Given the description of an element on the screen output the (x, y) to click on. 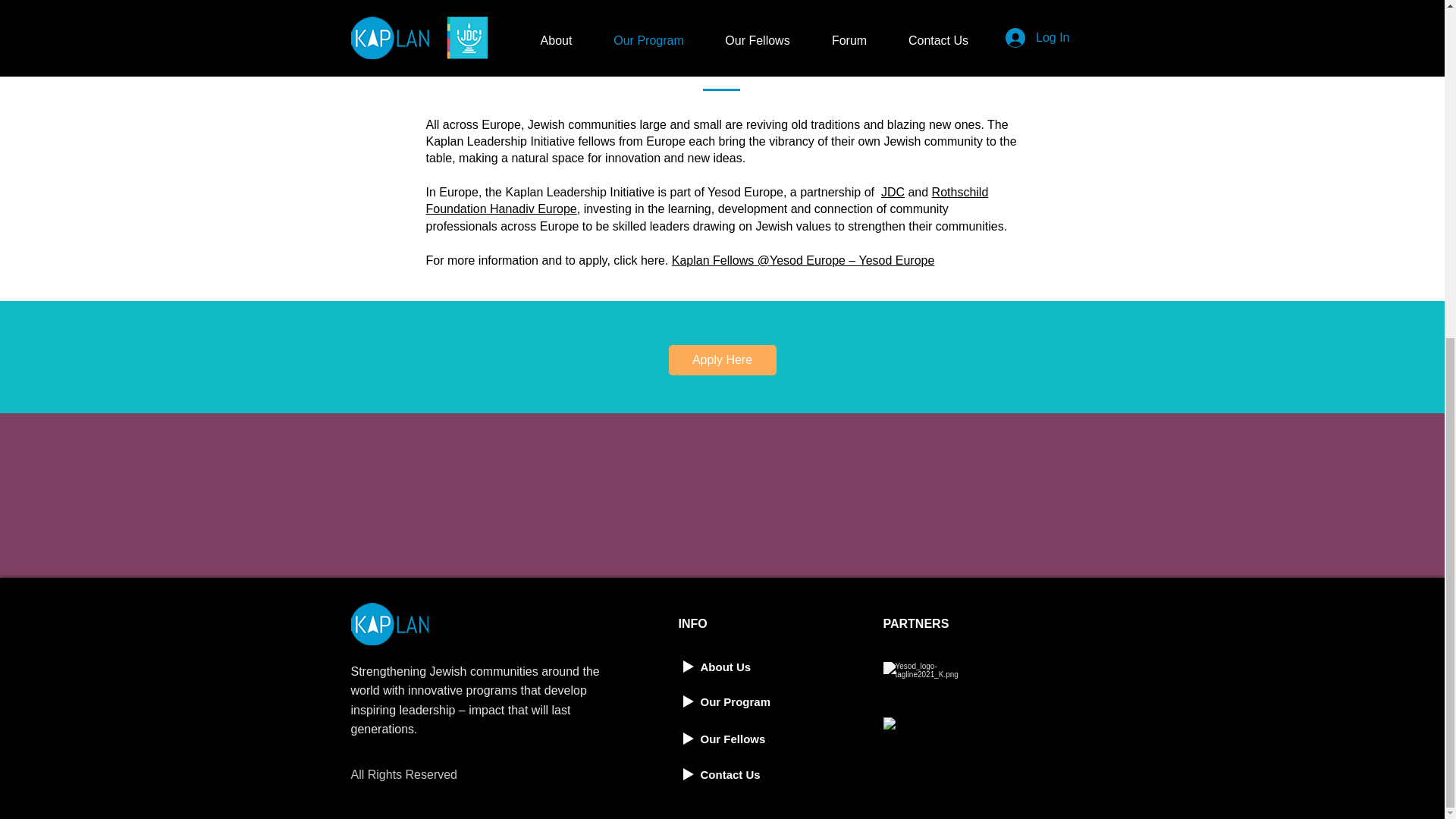
JDC (892, 192)
Contact Us (732, 774)
Our Program (732, 701)
Our Fellows (732, 738)
Rothschild Foundation Hanadiv Europe (707, 200)
About Us (732, 666)
Apply Here (722, 359)
